Given the description of an element on the screen output the (x, y) to click on. 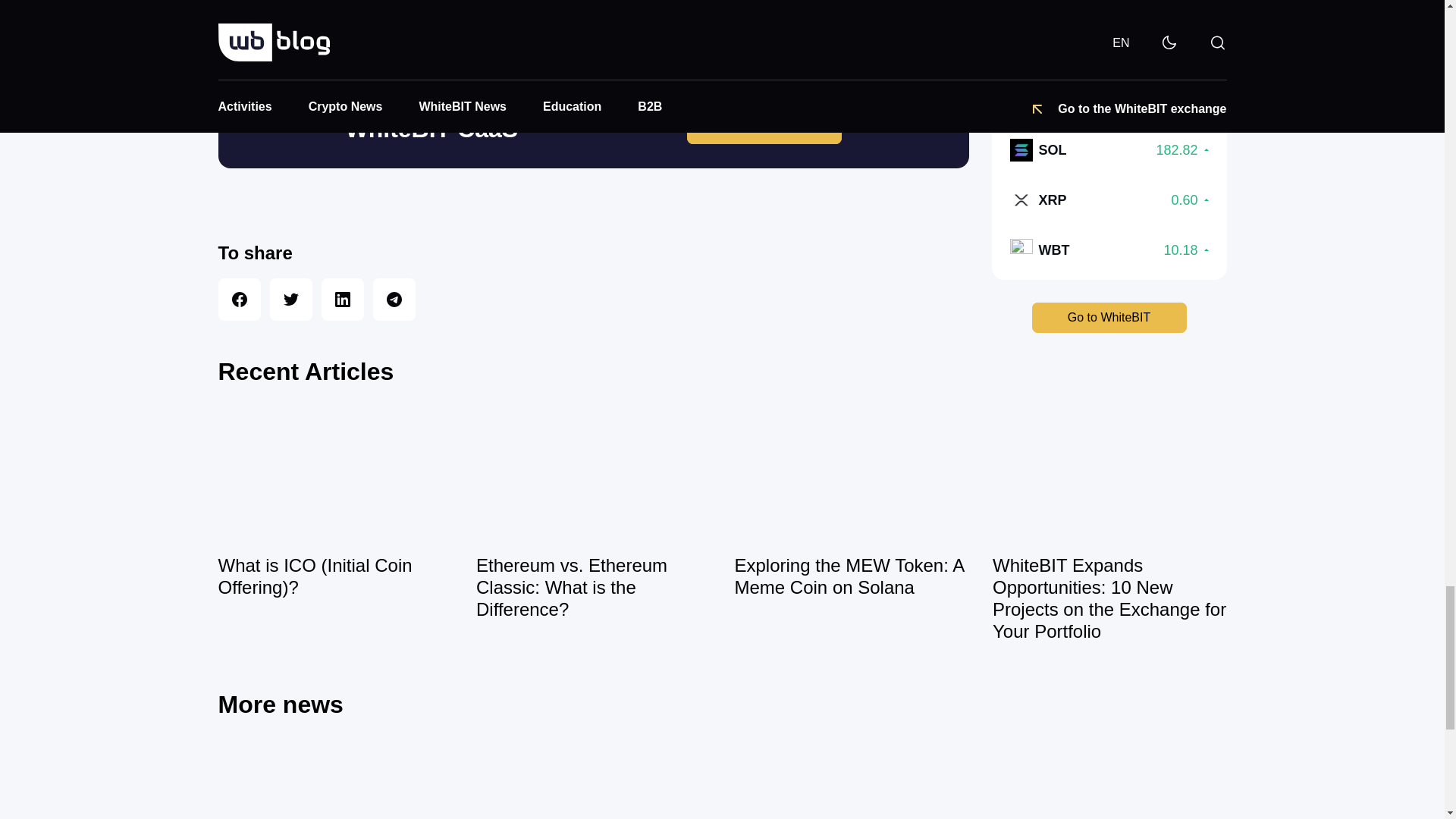
Learn more (764, 128)
